Given the description of an element on the screen output the (x, y) to click on. 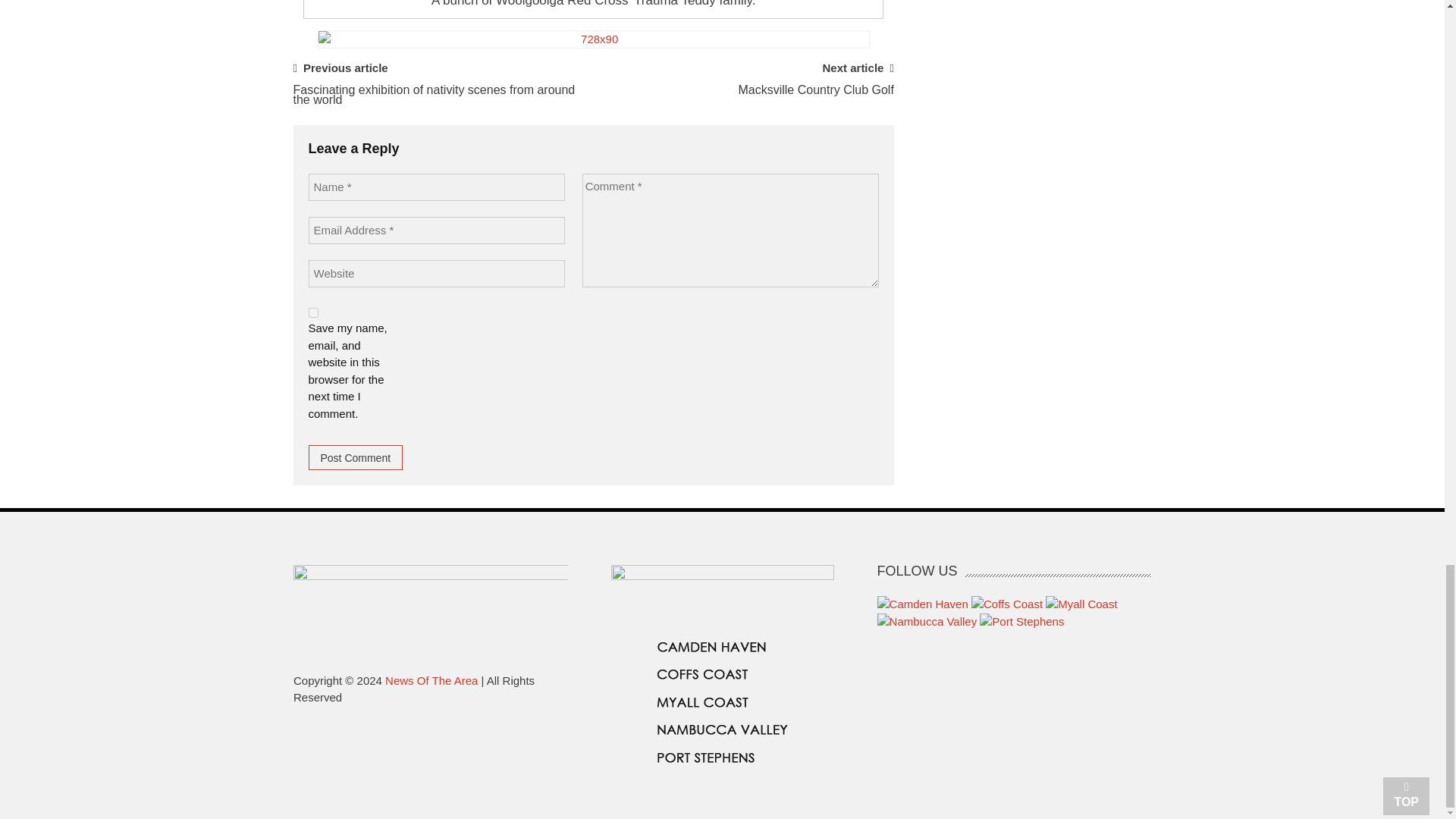
Post Comment (355, 457)
yes (312, 312)
